Given the description of an element on the screen output the (x, y) to click on. 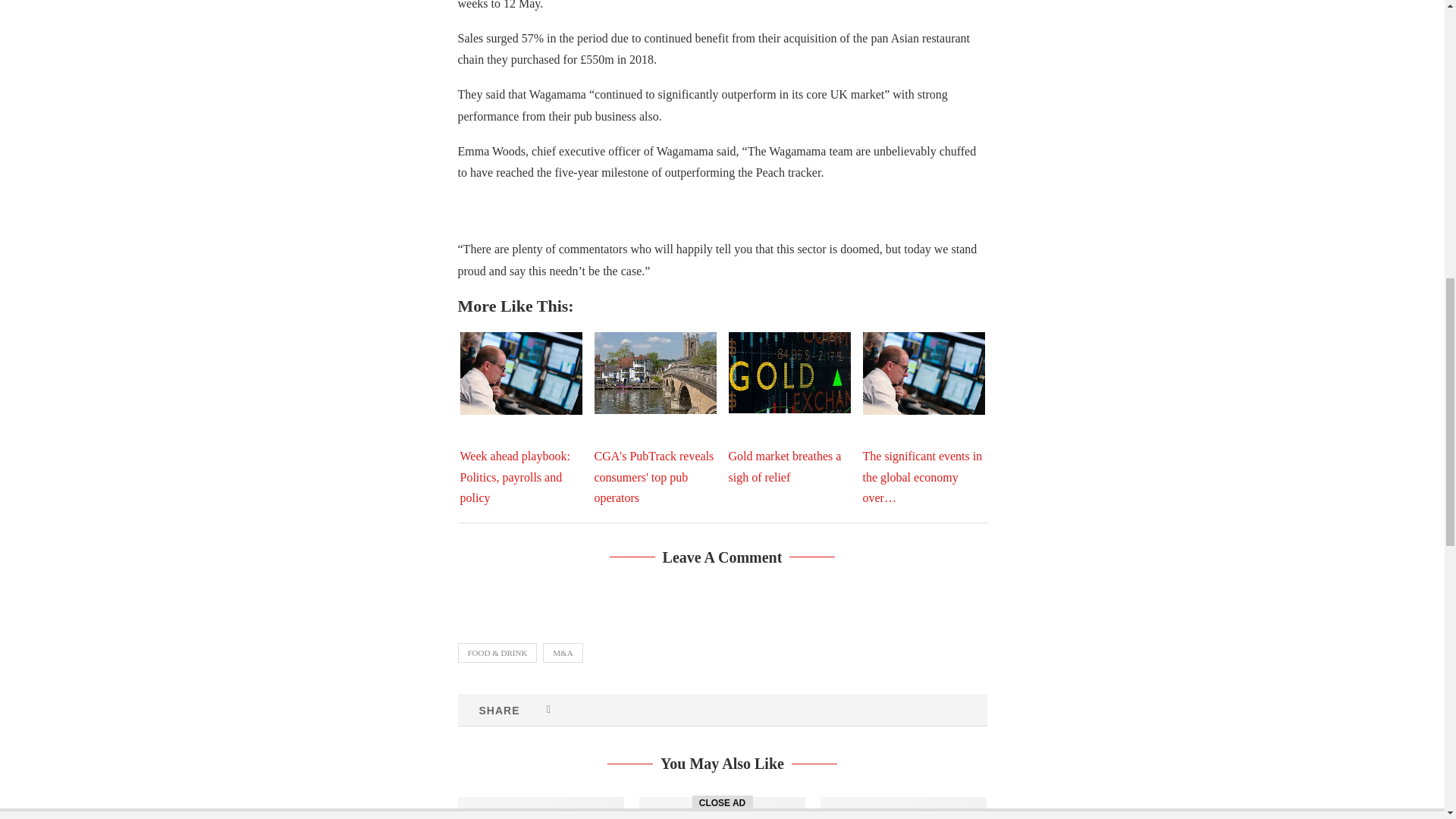
Gold market breathes a sigh of relief (789, 372)
CGA's PubTrack reveals consumers' top pub operators (655, 372)
Week ahead playbook: Politics, payrolls and policy (520, 373)
